Given the description of an element on the screen output the (x, y) to click on. 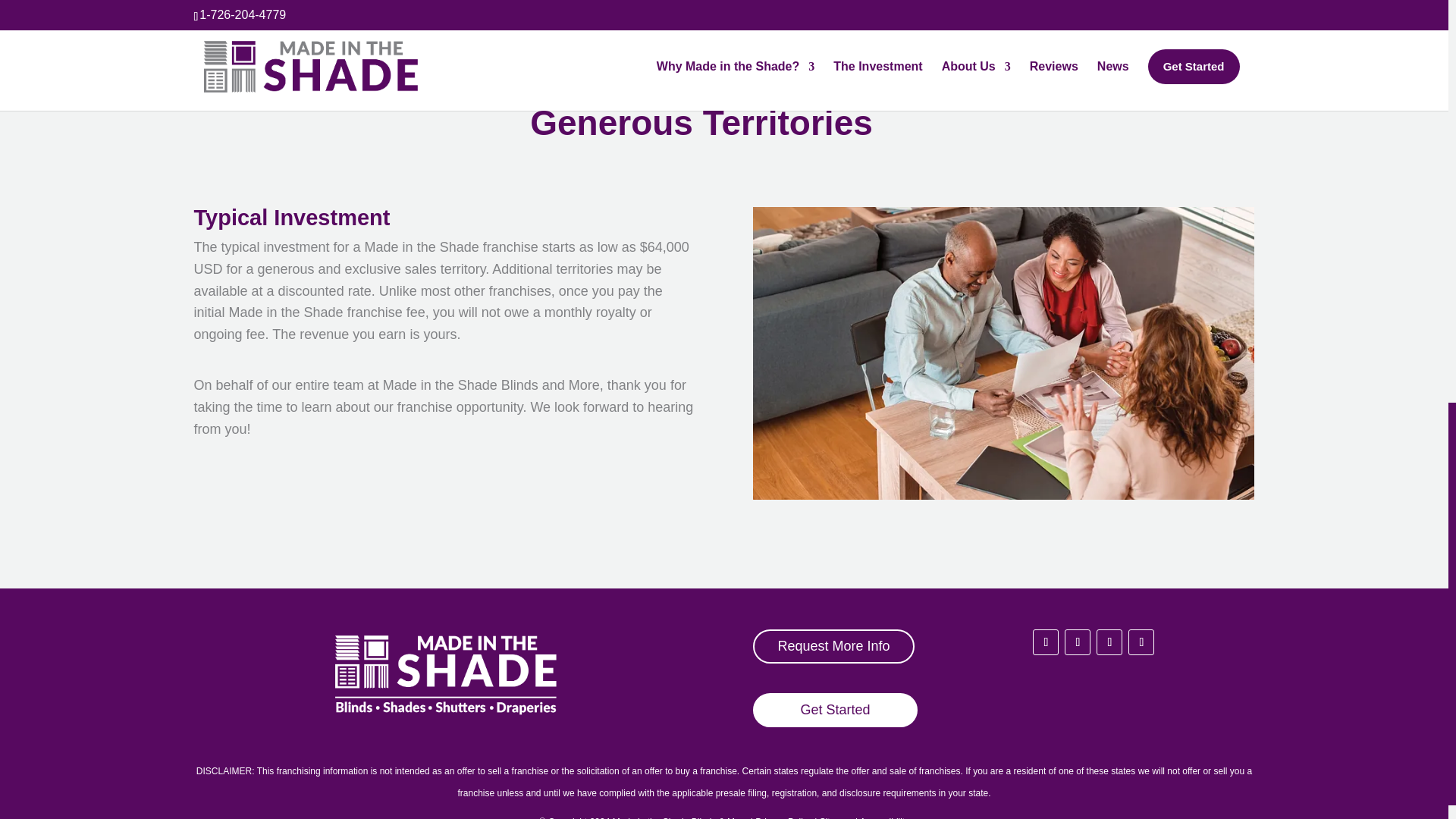
Privacy Policy (783, 817)
Follow on Youtube (1109, 642)
Follow on Facebook (1045, 642)
accessibility statement (884, 817)
Follow on Instagram (1077, 642)
Accessibility (884, 817)
Get Started (834, 709)
Sitemap (836, 817)
Request More Info (833, 646)
